Given the description of an element on the screen output the (x, y) to click on. 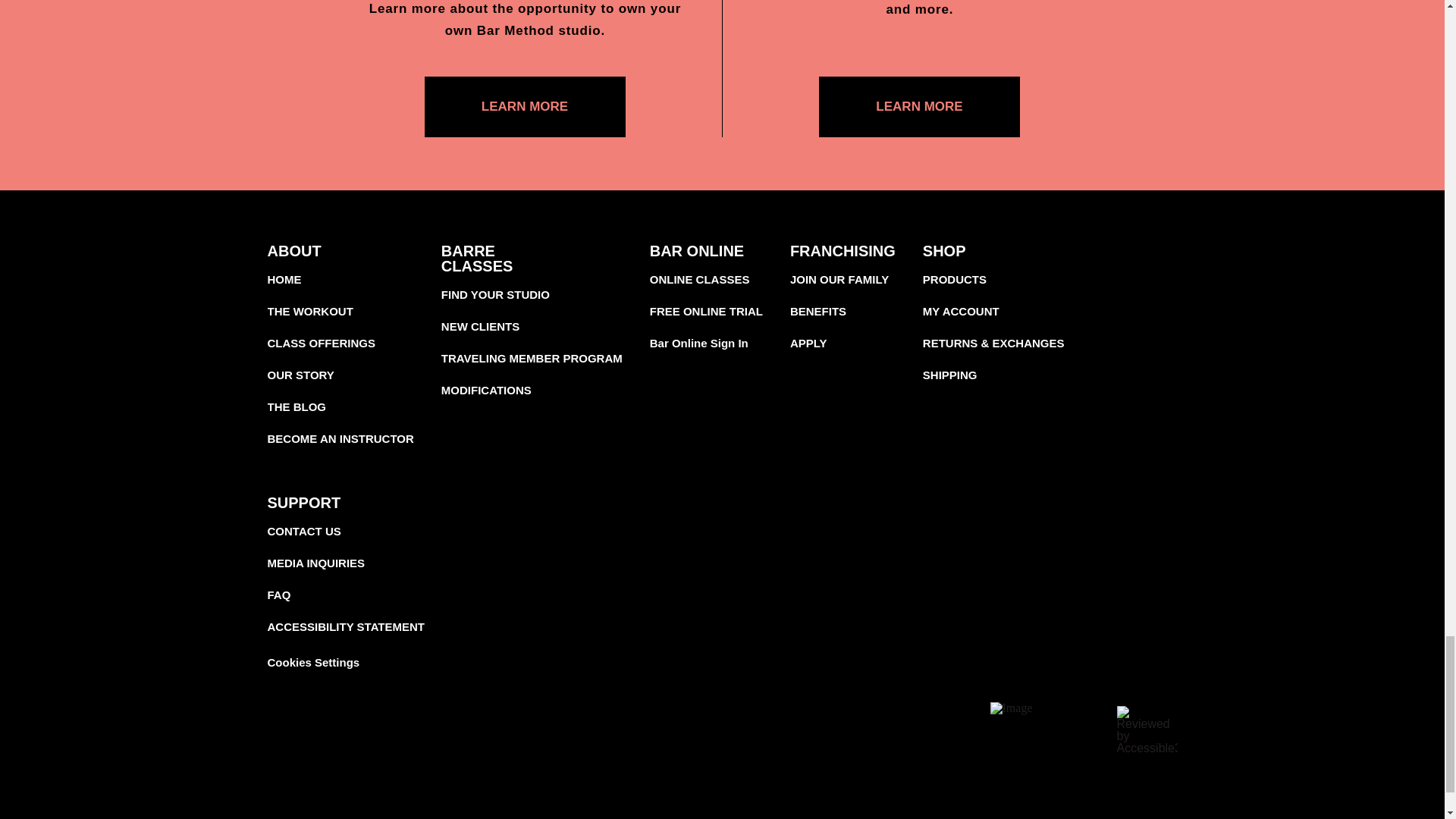
LEARN MORE (525, 106)
LEARN MORE (919, 106)
